Given the description of an element on the screen output the (x, y) to click on. 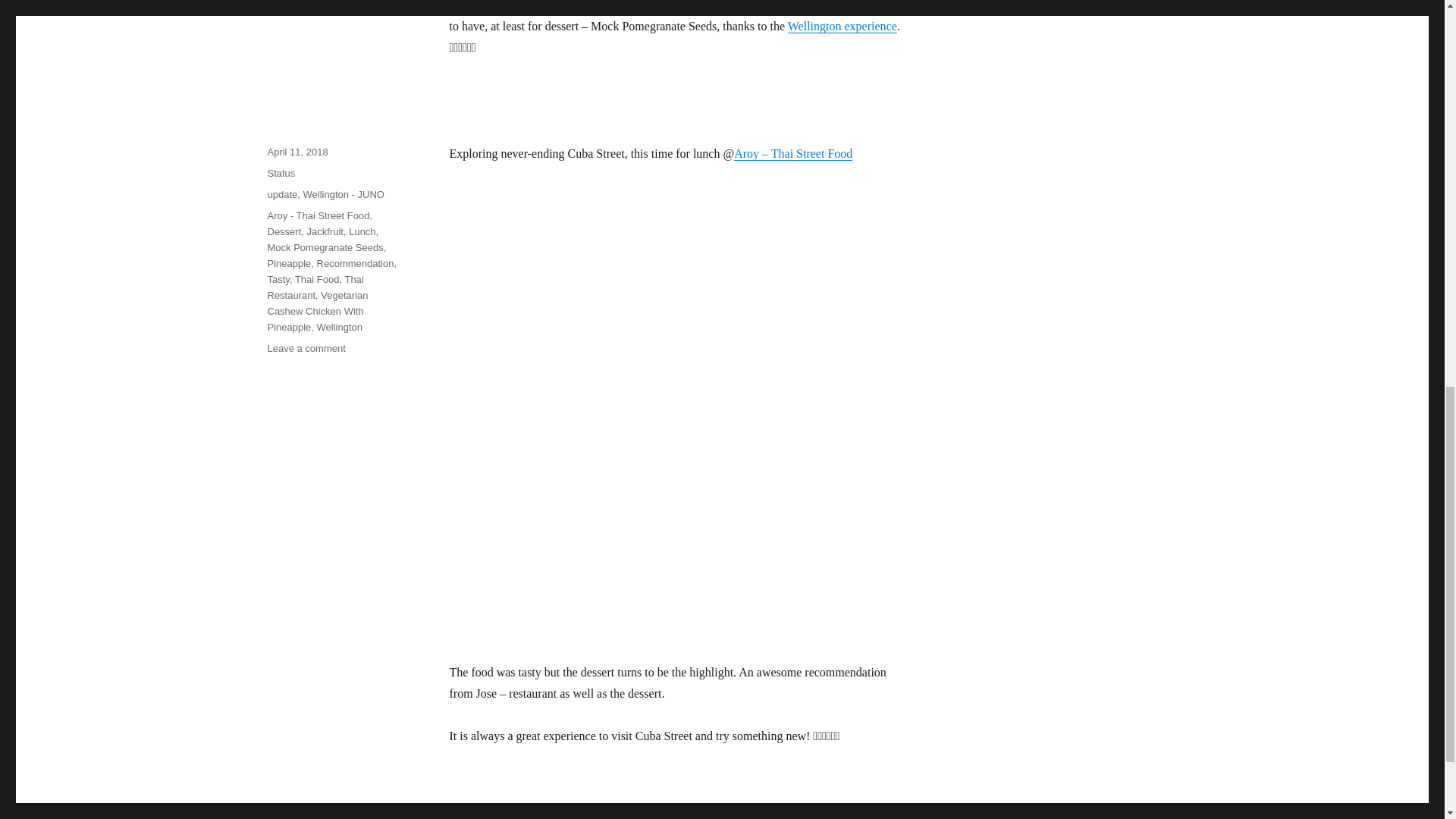
Dessert (283, 231)
update (281, 194)
Lunch (362, 231)
Pineapple (288, 263)
Status (280, 173)
Mock Pomegranate Seeds (324, 247)
Recommendation (355, 263)
Jackfruit (325, 231)
Aroy - Thai Street Food (317, 215)
Wellington experience (841, 25)
